Given the description of an element on the screen output the (x, y) to click on. 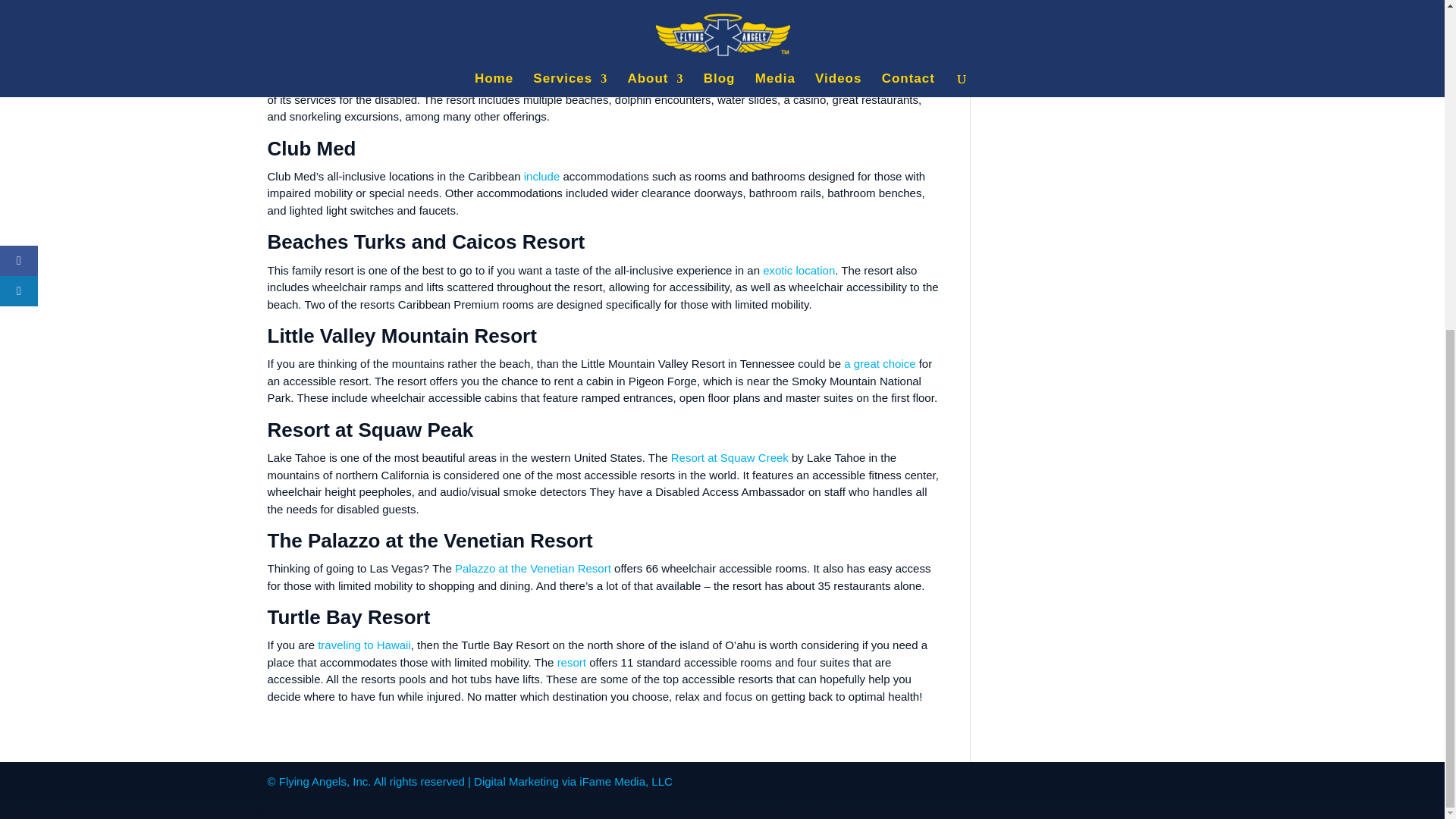
traveling to Hawaii (363, 644)
a great choice (879, 363)
an online guide (894, 82)
include (542, 175)
Palazzo at the Venetian Resort (532, 567)
exotic location (798, 269)
Resort at Squaw Creek (730, 457)
resort (571, 662)
